Given the description of an element on the screen output the (x, y) to click on. 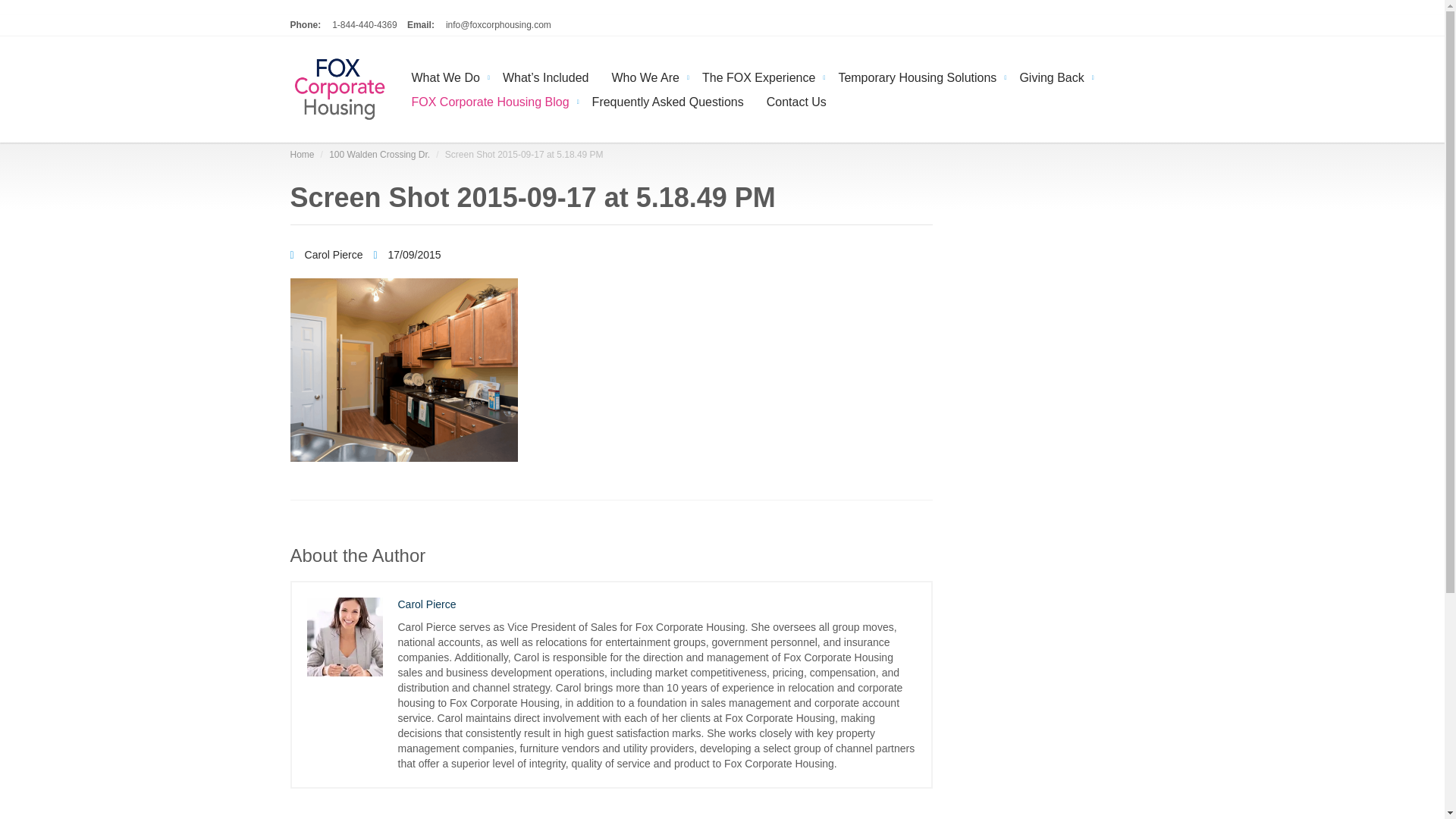
Frequently Asked Questions (667, 100)
Temporary Housing Solutions (917, 75)
Corporate Housing, Short-term housing, Furnished Apartments (338, 89)
FOX Corporate Housing Blog (490, 100)
Who We Are (644, 75)
Carol Pierce (327, 254)
The FOX Experience (758, 75)
Home (301, 154)
100 Walden Crossing Dr. (379, 154)
100 Walden Crossing Dr. (379, 154)
